Given the description of an element on the screen output the (x, y) to click on. 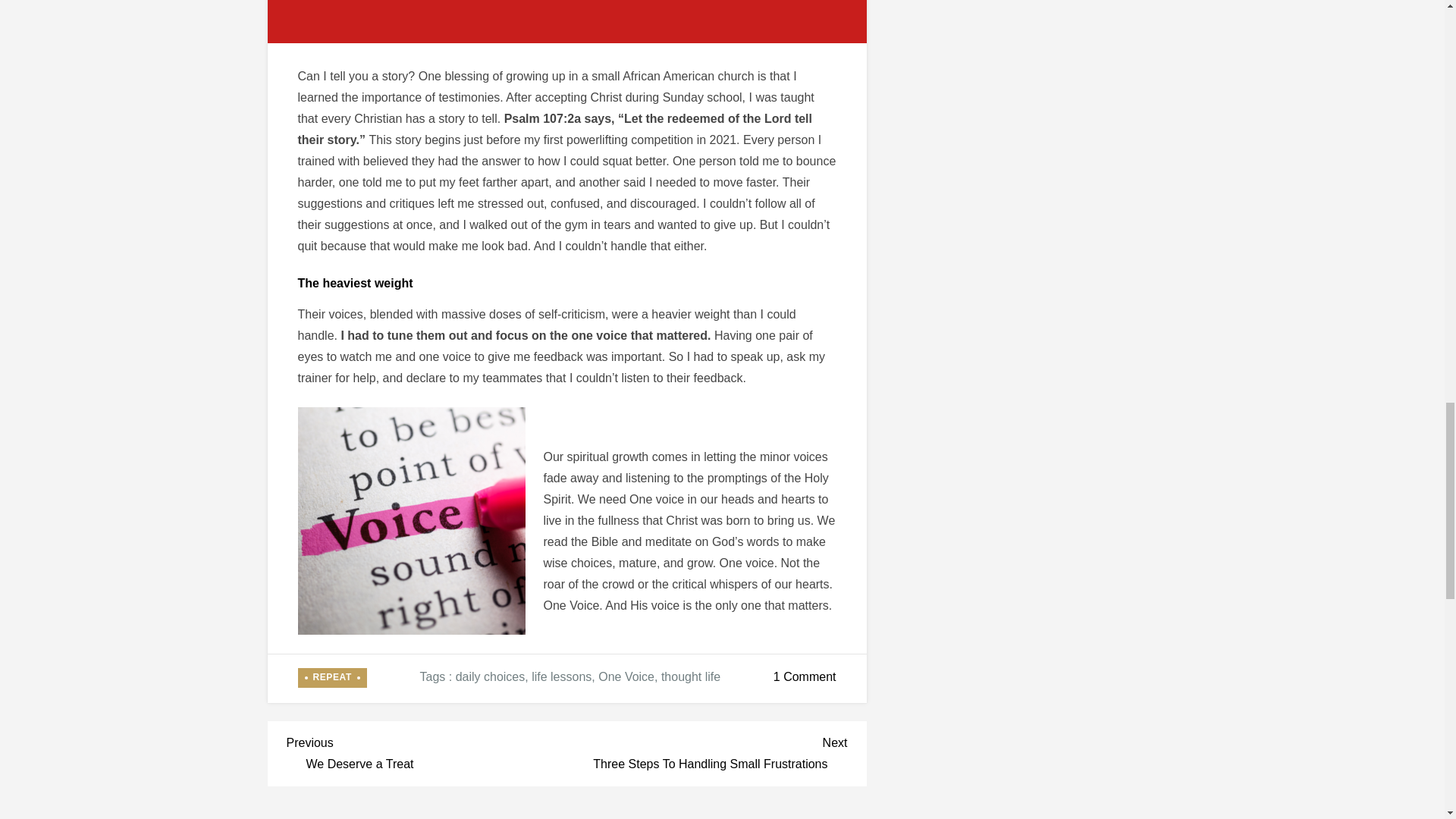
life lessons (707, 751)
REPEAT (561, 676)
thought life (426, 751)
One Voice (331, 677)
daily choices (690, 676)
